Given the description of an element on the screen output the (x, y) to click on. 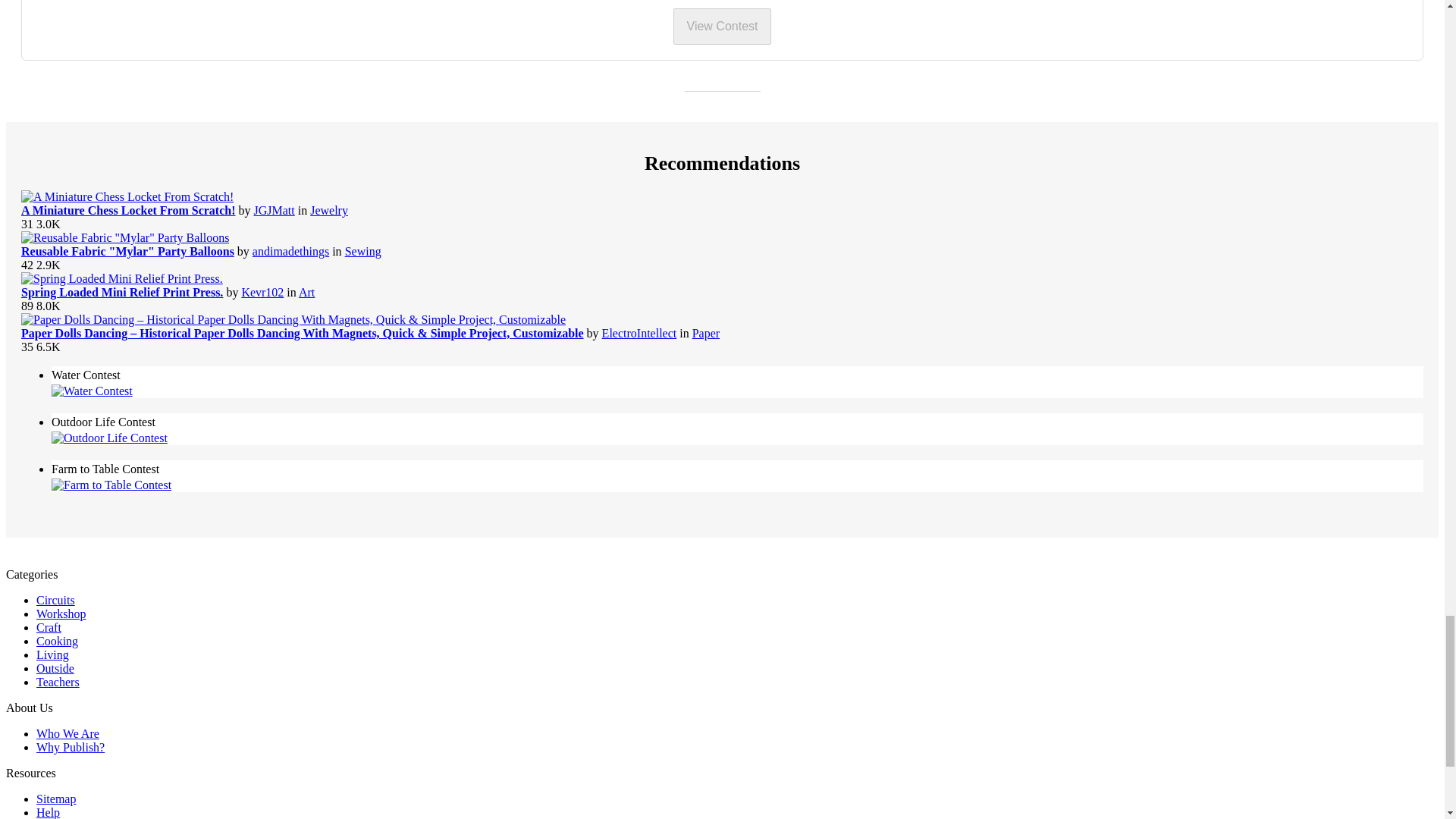
Art (306, 291)
Spring Loaded Mini Relief Print Press. (121, 291)
Kevr102 (262, 291)
JGJMatt (273, 210)
A Miniature Chess Locket From Scratch! (127, 210)
Paper (706, 332)
Reusable Fabric "Mylar" Party Balloons (127, 250)
Jewelry (328, 210)
ElectroIntellect (639, 332)
andimadethings (290, 250)
Sewing (363, 250)
View Contest (721, 26)
